Given the description of an element on the screen output the (x, y) to click on. 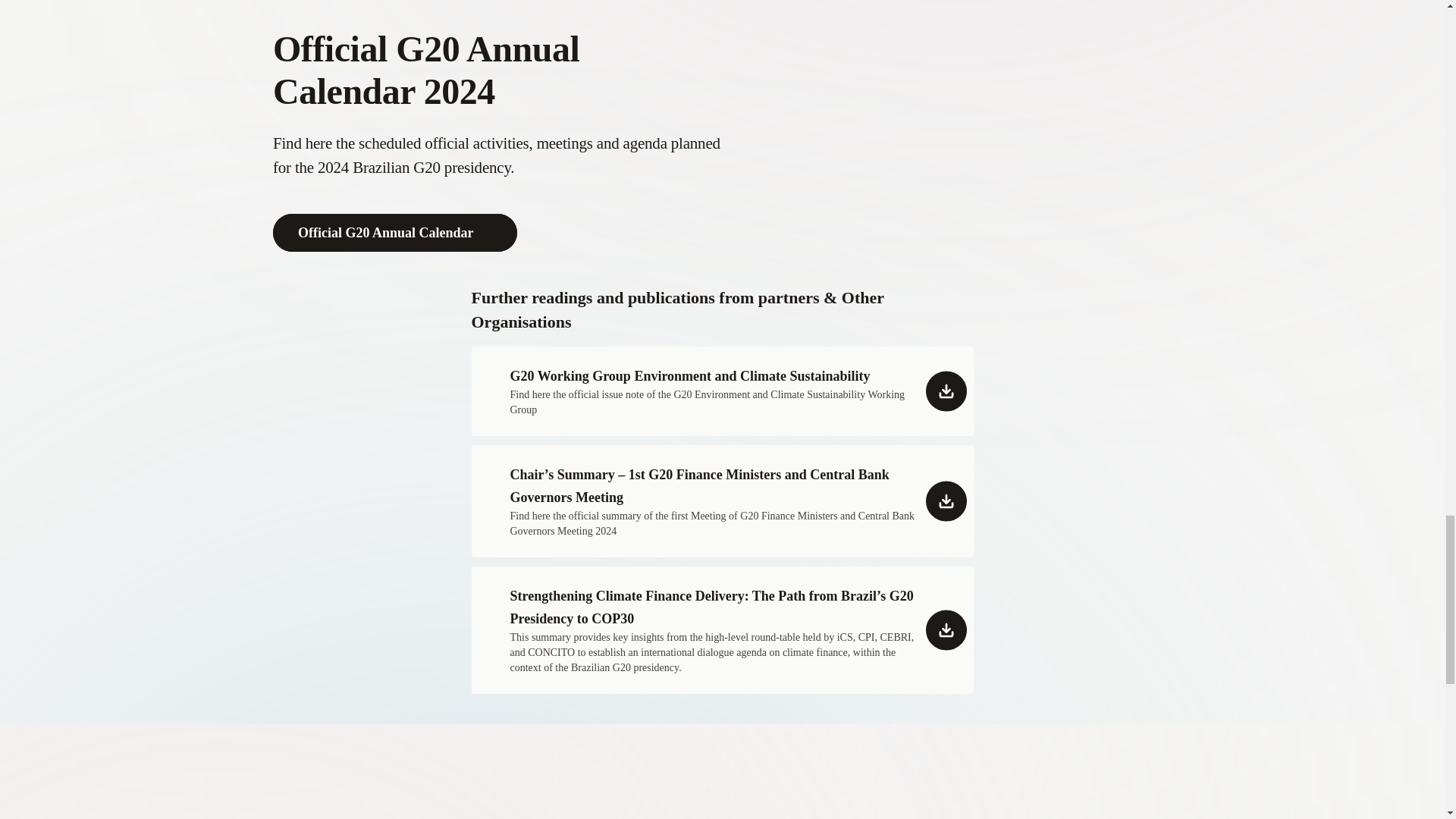
Official G20 Annual Calendar (394, 232)
Download (711, 629)
Download (711, 500)
Download (711, 390)
Official G20 Annual Calendar (394, 232)
